Given the description of an element on the screen output the (x, y) to click on. 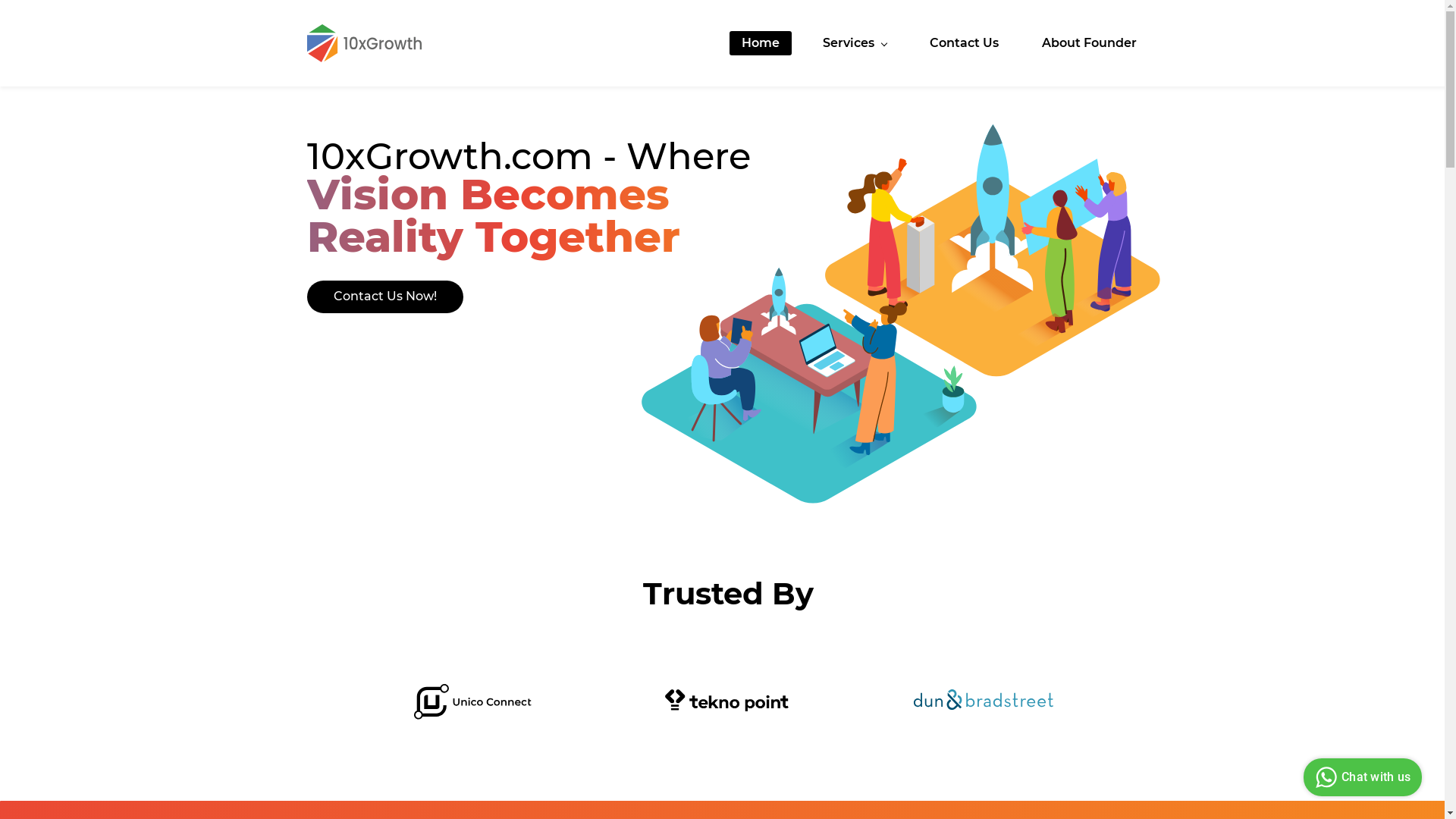
Services Element type: text (854, 43)
Contact Us Now! Element type: text (385, 296)
Chat with us Element type: text (1362, 777)
Contact Us Element type: text (963, 43)
Home Element type: text (760, 43)
About Founder Element type: text (1088, 43)
